Given the description of an element on the screen output the (x, y) to click on. 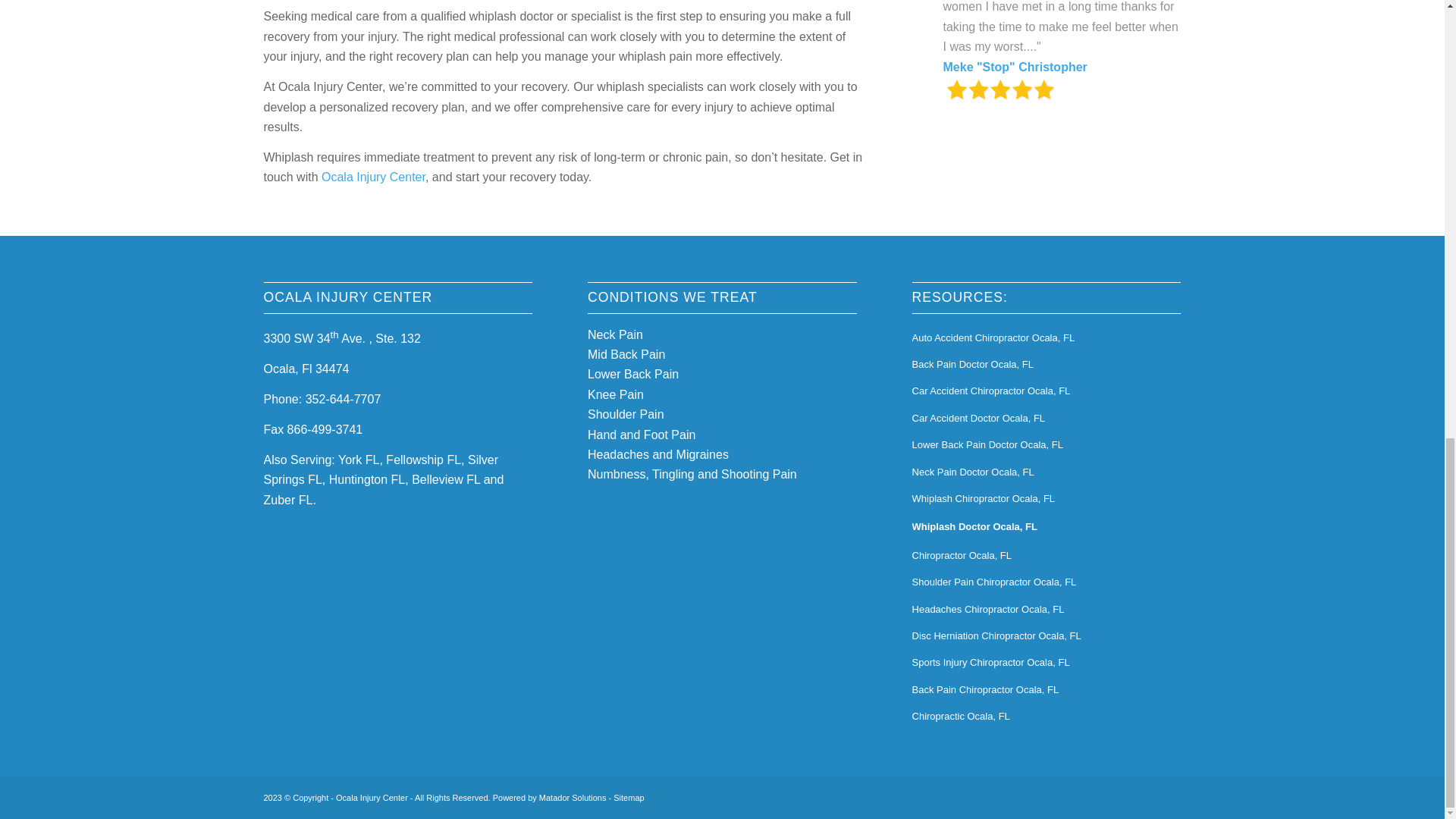
Chiropractor Ocala, FL (1046, 555)
Sitemap (627, 796)
Matador Solutions (572, 796)
Facebook (1124, 793)
Auto Accident Chiropractor Ocala, FL (1046, 338)
Sports Injury Chiropractor Ocala, FL (1046, 663)
Car Accident Chiropractor Ocala, FL (1046, 391)
Back Pain Doctor Ocala, FL (1046, 365)
Chiropractic Ocala, FL (1046, 716)
Neck Pain Doctor Ocala, FL (1046, 472)
Back Pain Chiropractor Ocala, FL (1046, 690)
Disc Herniation Chiropractor Ocala, FL (1046, 636)
Car Accident Doctor Ocala, FL (1046, 418)
Ocala Injury Center (373, 176)
Mail (1169, 793)
